Given the description of an element on the screen output the (x, y) to click on. 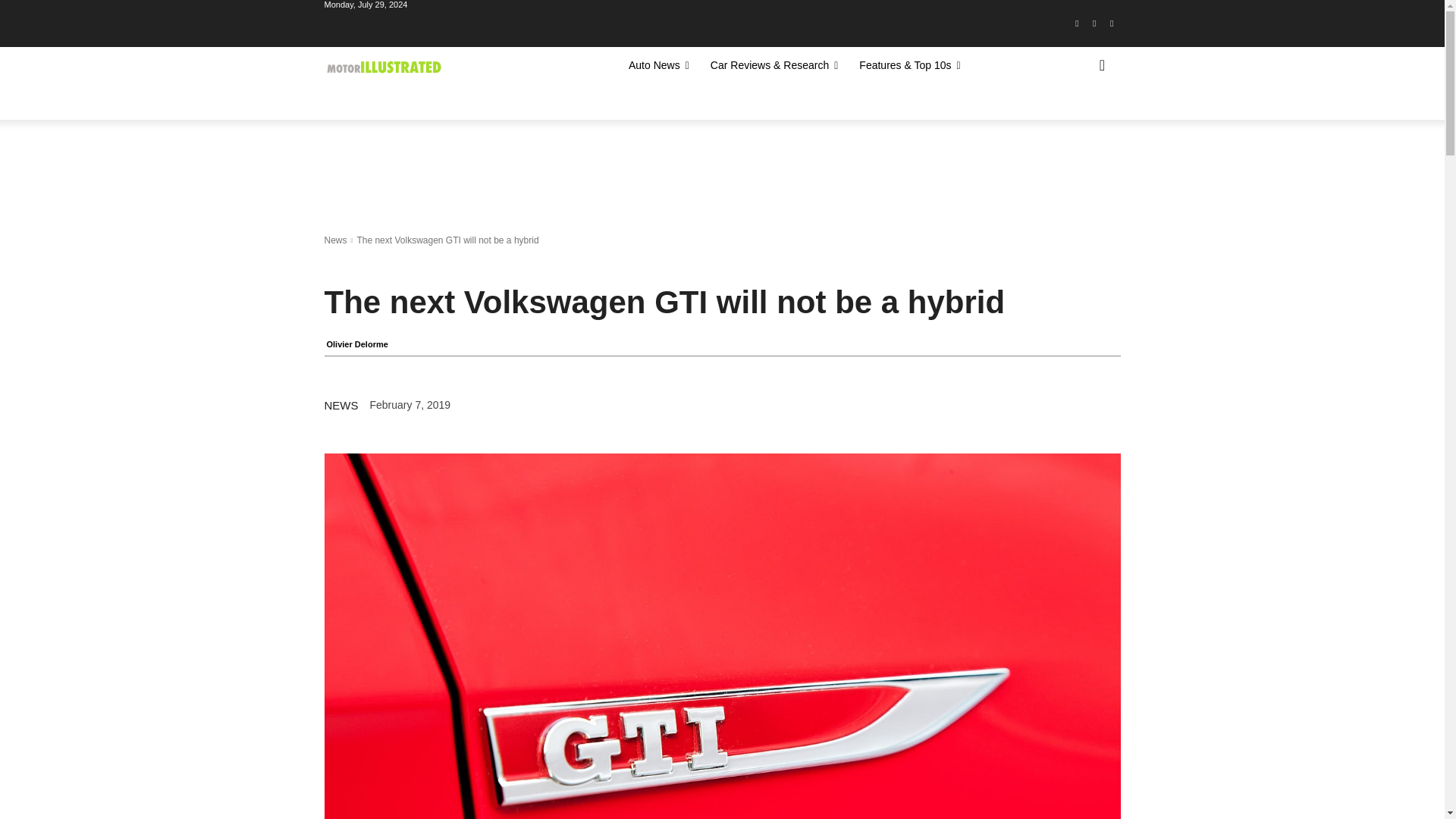
View all posts in News (335, 240)
Youtube (1112, 23)
Facebook (1077, 23)
Instagram (1094, 23)
Auto News (658, 64)
Advertisement (600, 172)
